Given the description of an element on the screen output the (x, y) to click on. 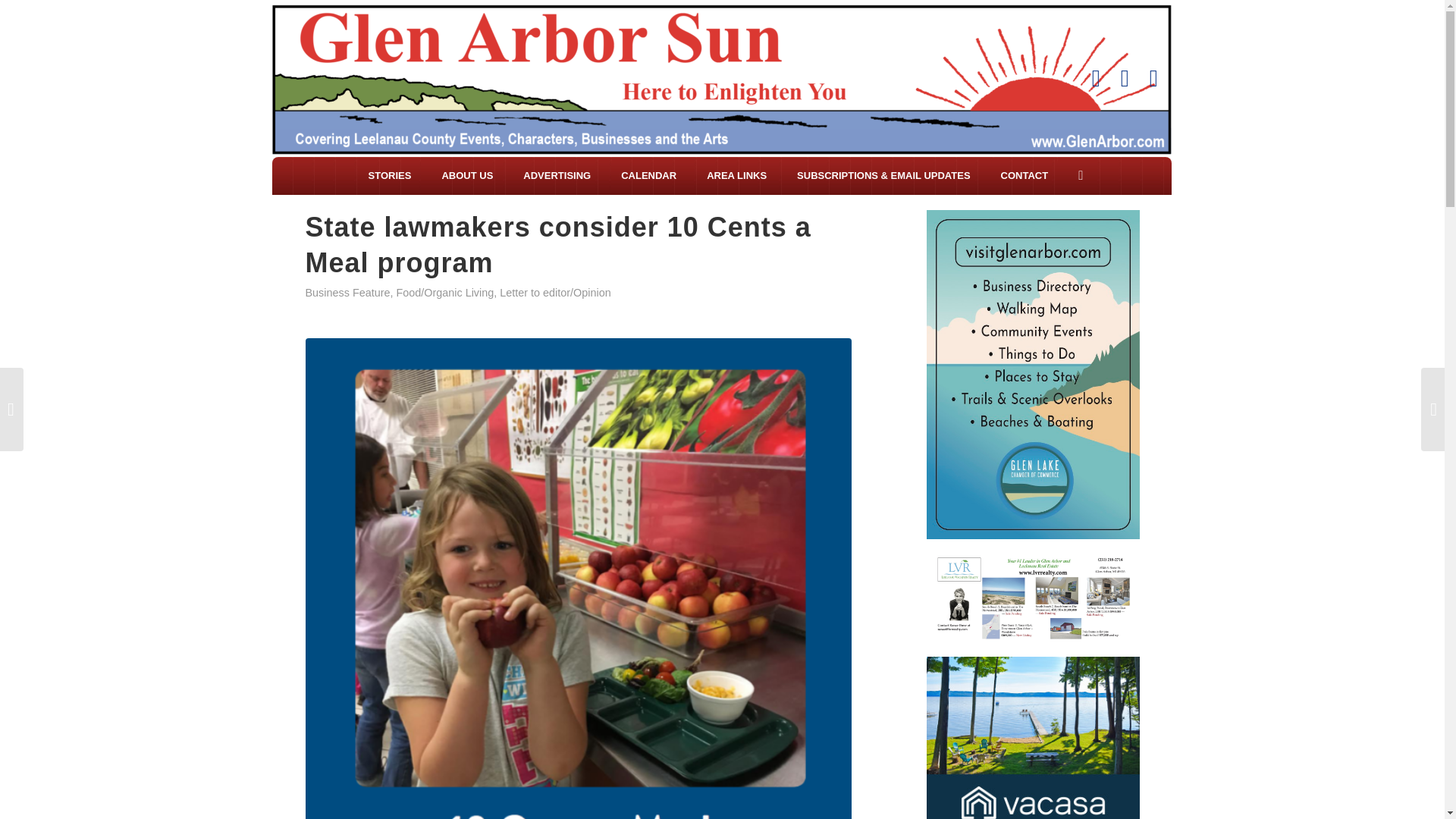
STORIES (390, 175)
CALENDAR (648, 175)
ADVERTISING (556, 175)
AREA LINKS (736, 175)
ABOUT US (466, 175)
Business Feature (347, 292)
